Given the description of an element on the screen output the (x, y) to click on. 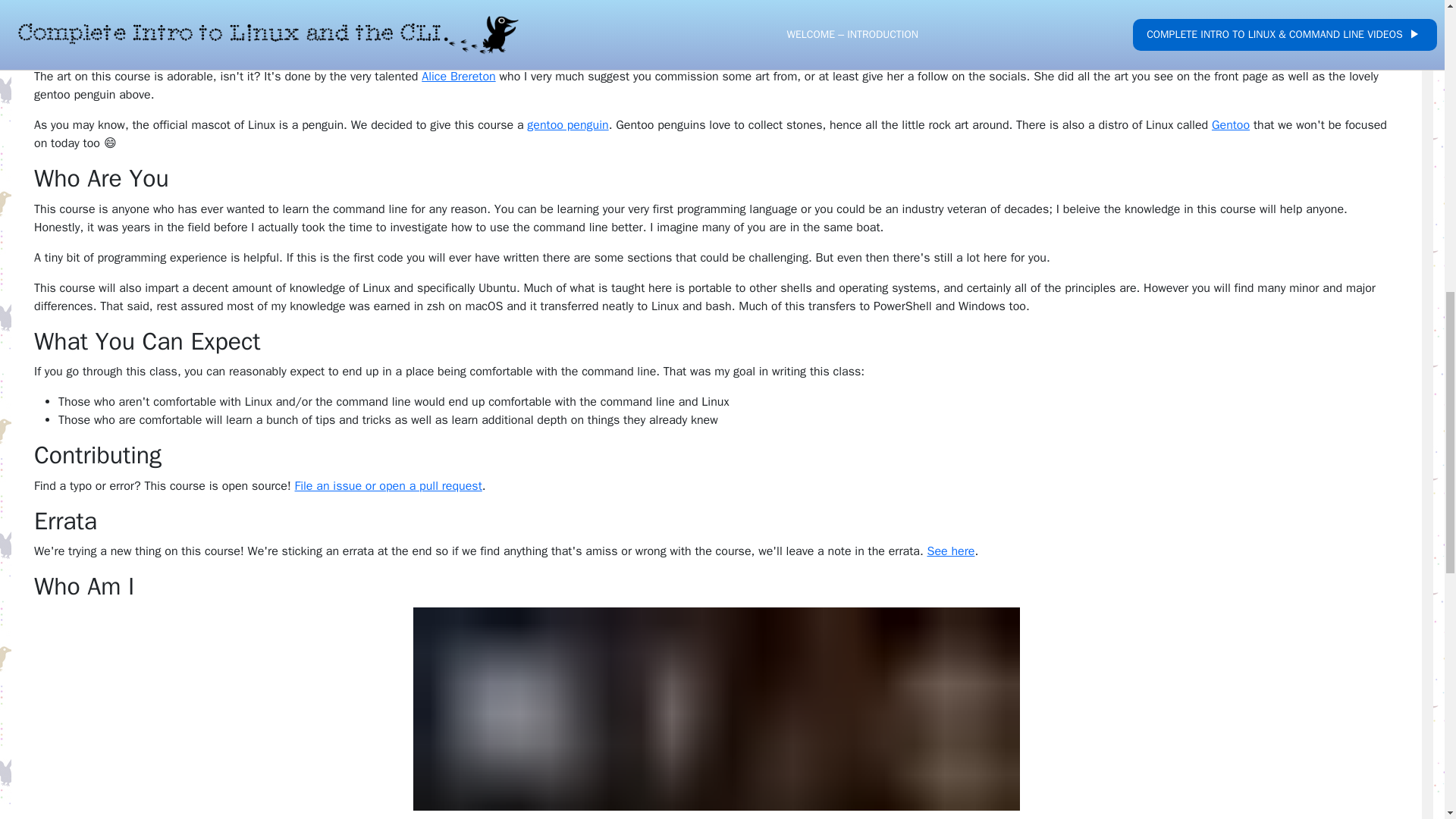
gentoo penguin (567, 124)
Alice Brereton (458, 76)
Gentoo (1230, 124)
File an issue or open a pull request (387, 485)
See here (950, 550)
